Given the description of an element on the screen output the (x, y) to click on. 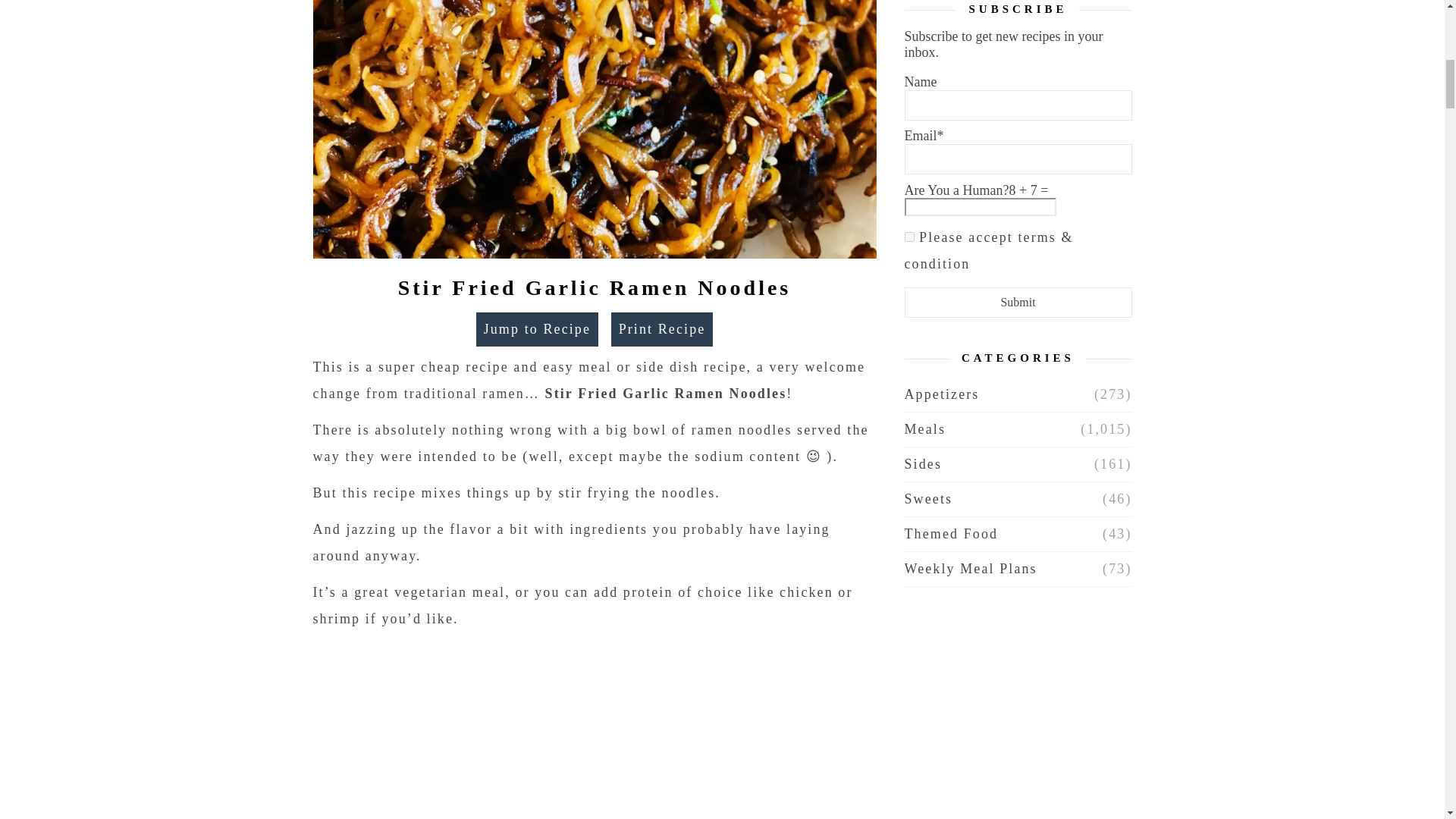
true (909, 236)
Submit (1017, 302)
Jump to Recipe (537, 329)
Print Recipe (662, 329)
